Given the description of an element on the screen output the (x, y) to click on. 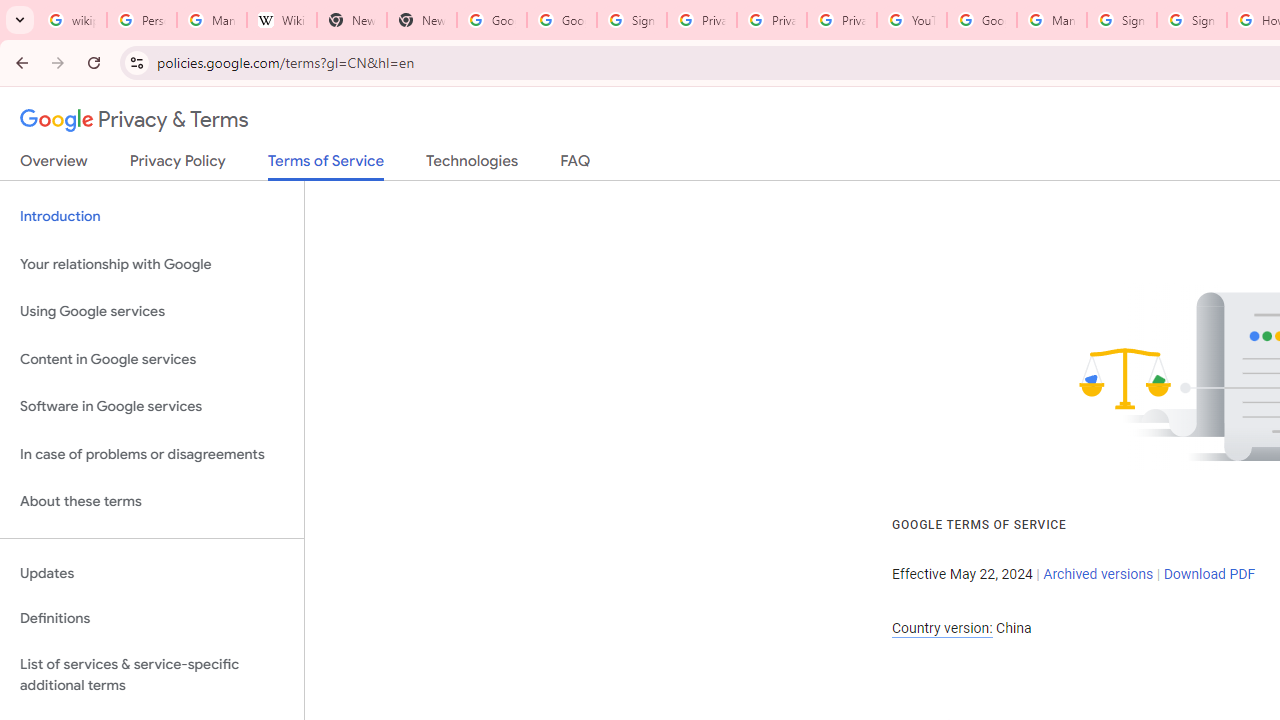
Download PDF (1209, 574)
Manage your Location History - Google Search Help (211, 20)
Definitions (152, 619)
Technologies (472, 165)
Introduction (152, 216)
YouTube (911, 20)
List of services & service-specific additional terms (152, 674)
Software in Google services (152, 407)
Google Account Help (982, 20)
Country version: (942, 628)
Privacy & Terms (134, 120)
